Given the description of an element on the screen output the (x, y) to click on. 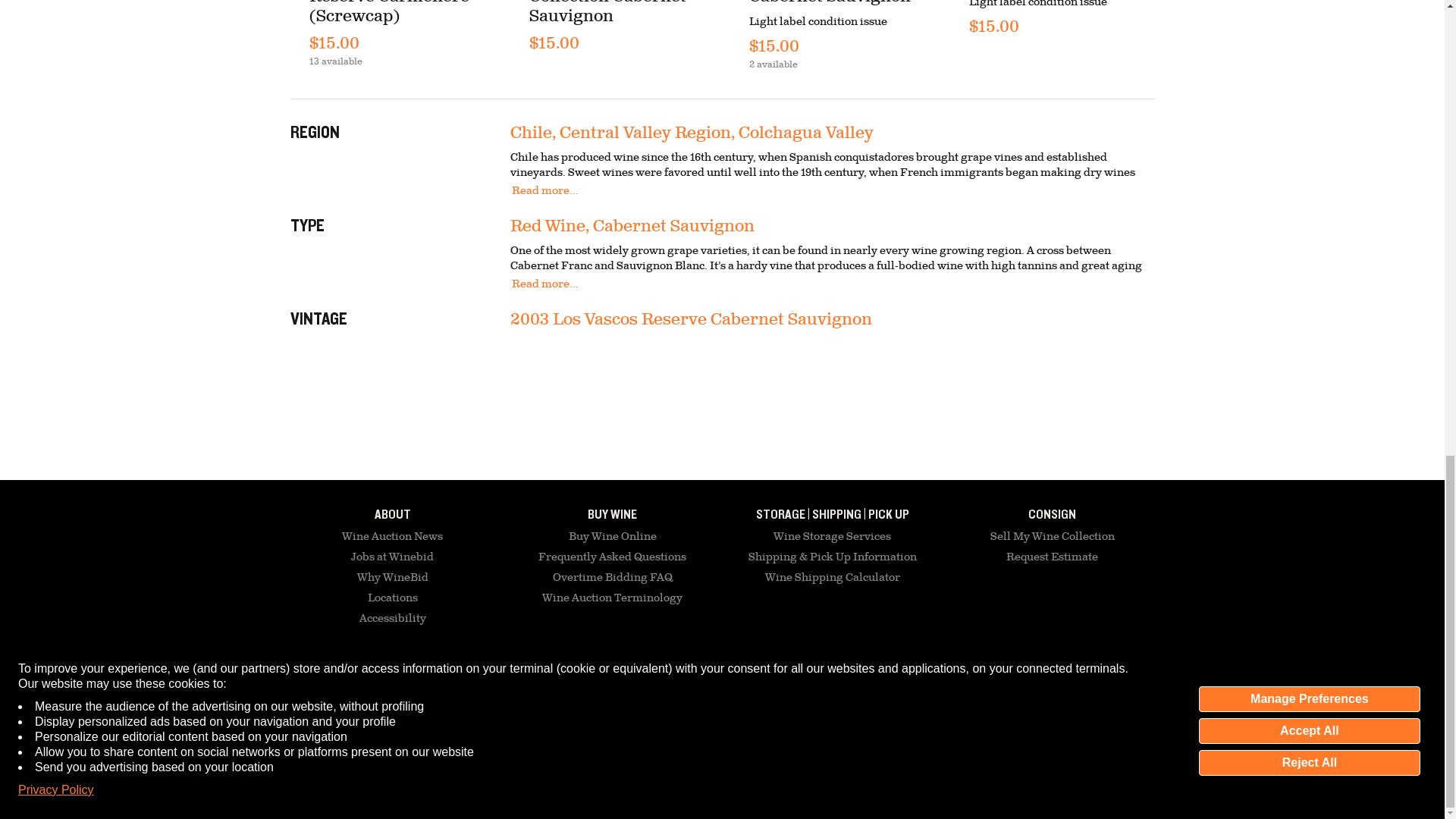
Email (359, 683)
Download on the App Store (985, 688)
Download on the App Store (898, 688)
Call WineBid about selling or buying fine wine. (504, 683)
